Given the description of an element on the screen output the (x, y) to click on. 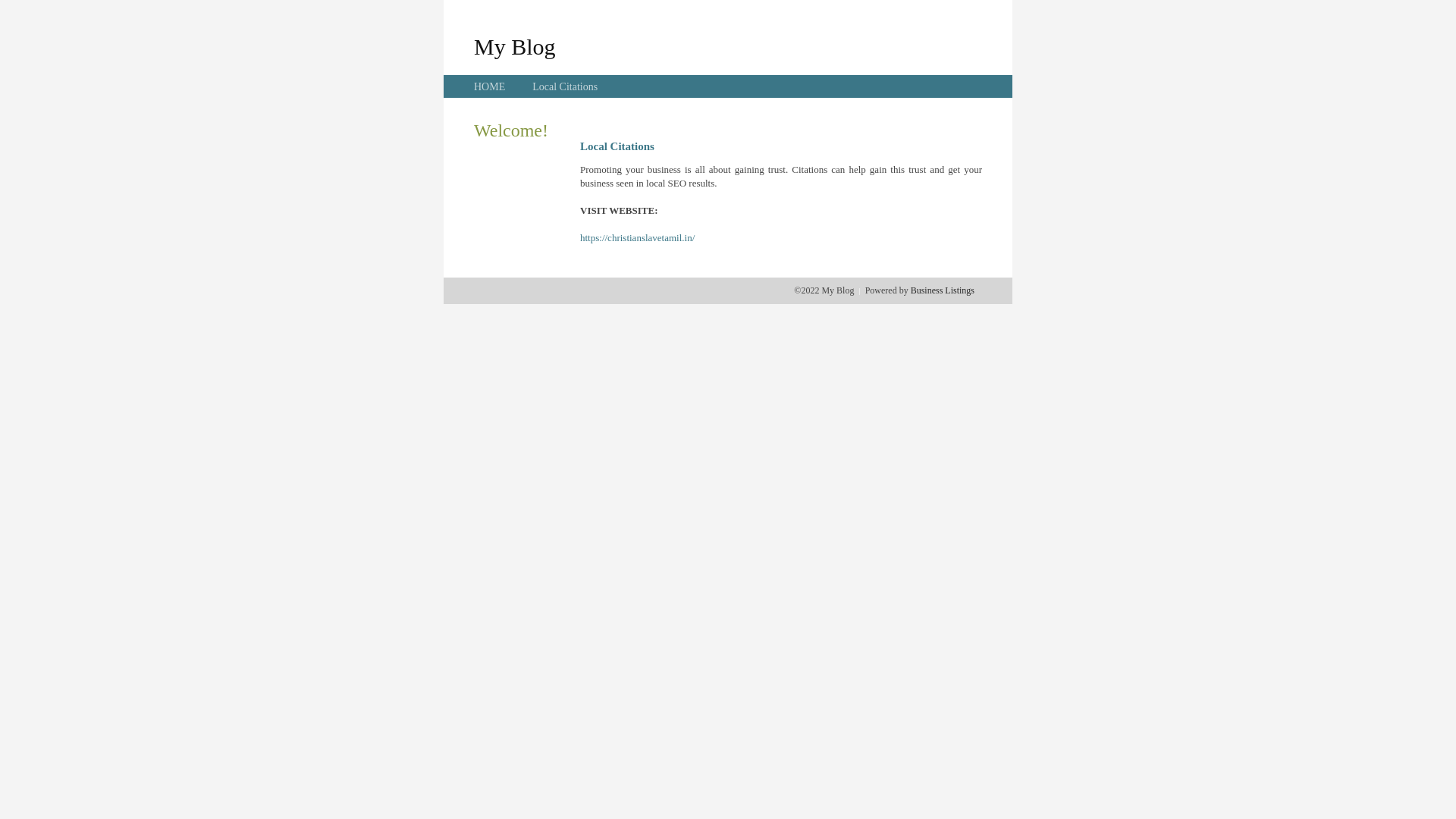
https://christianslavetamil.in/ Element type: text (637, 237)
Local Citations Element type: text (564, 86)
Business Listings Element type: text (942, 290)
HOME Element type: text (489, 86)
My Blog Element type: text (514, 46)
